Given the description of an element on the screen output the (x, y) to click on. 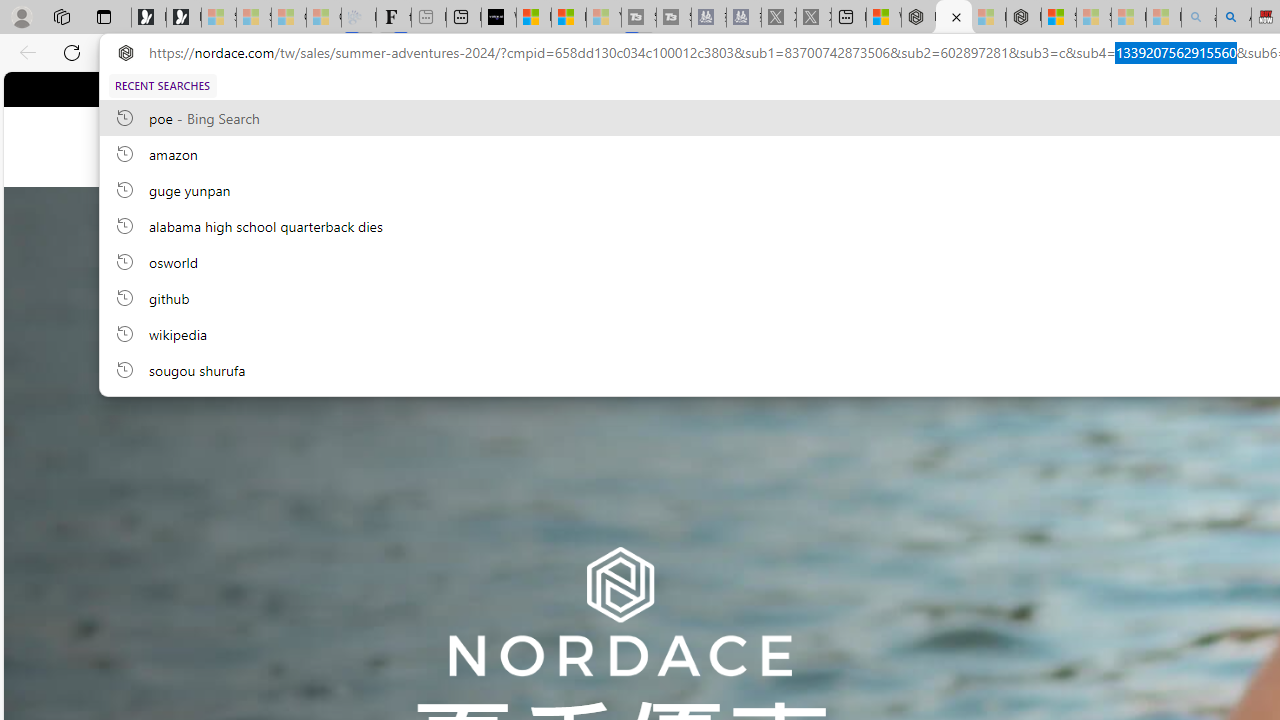
Workspaces (61, 16)
Streaming Coverage | T3 - Sleeping (639, 17)
X - Sleeping (813, 17)
